Given the description of an element on the screen output the (x, y) to click on. 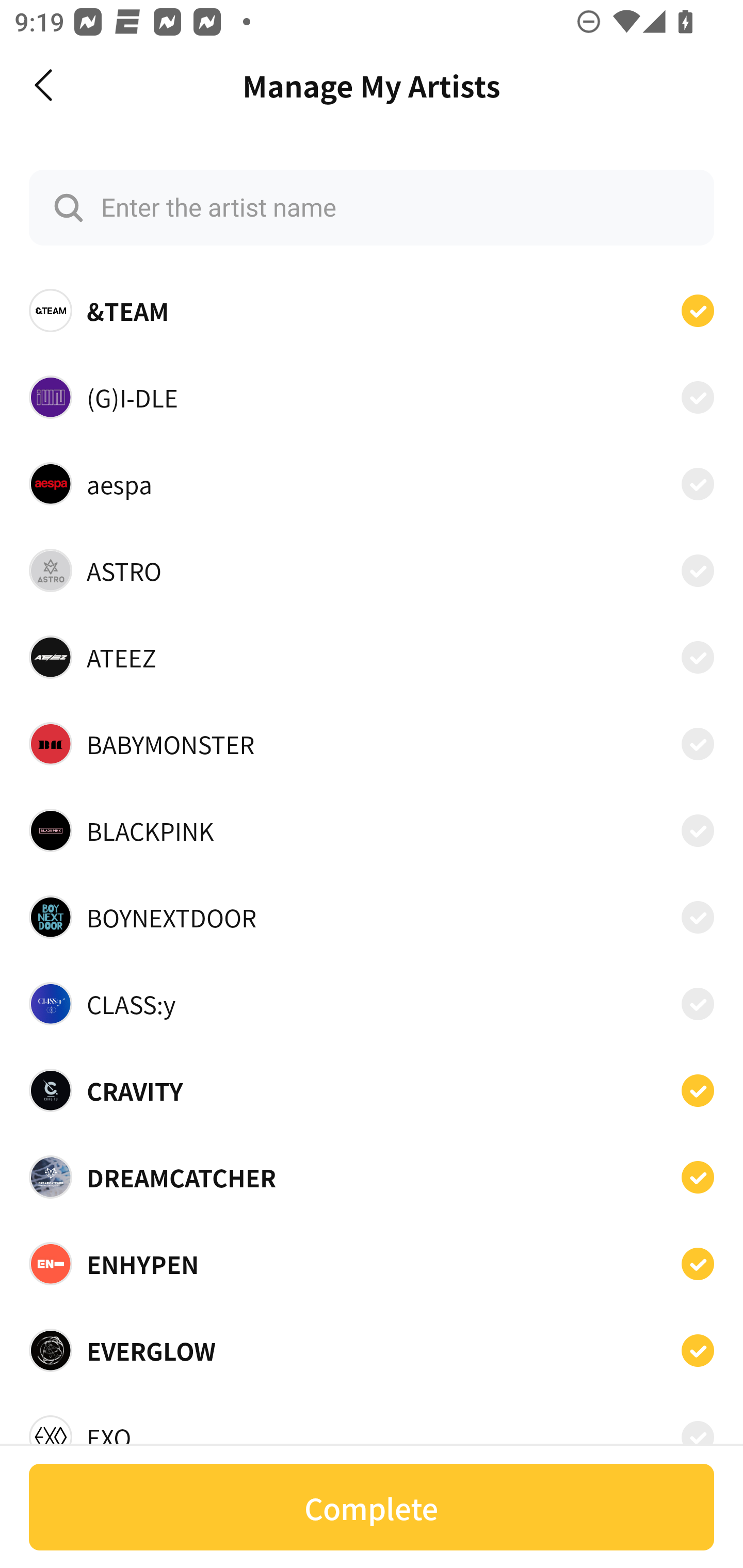
Enter the artist name (371, 207)
&TEAM (371, 310)
(G)I-DLE (371, 396)
aespa (371, 483)
ASTRO (371, 570)
ATEEZ (371, 656)
BABYMONSTER (371, 743)
BLACKPINK (371, 830)
BOYNEXTDOOR (371, 917)
CLASS:y (371, 1003)
CRAVITY (371, 1090)
DREAMCATCHER (371, 1176)
ENHYPEN (371, 1263)
EVERGLOW (371, 1350)
EXO (371, 1430)
Complete (371, 1507)
